Given the description of an element on the screen output the (x, y) to click on. 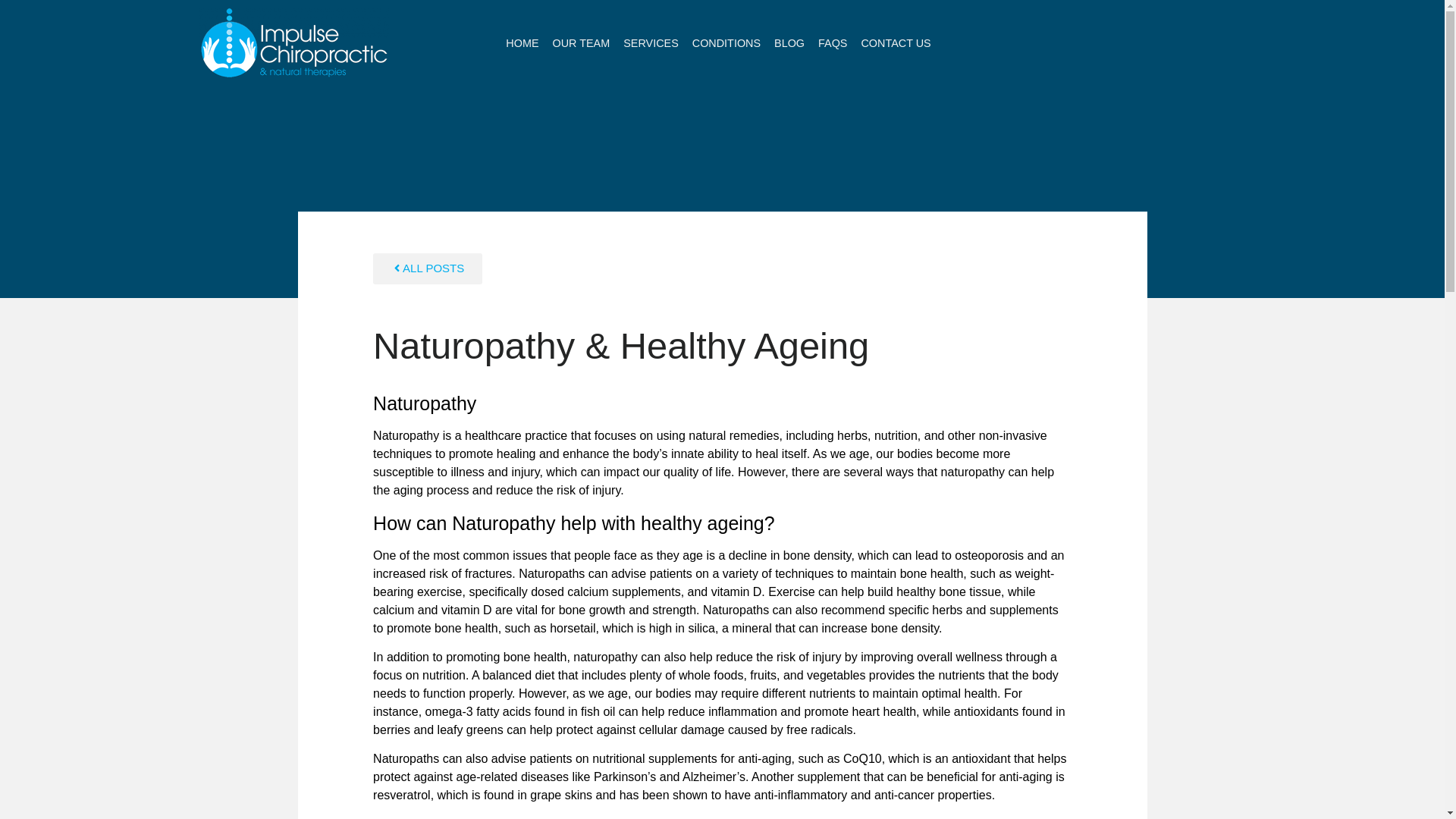
CONDITIONS (726, 42)
OUR TEAM (581, 42)
HOME (521, 42)
SERVICES (650, 42)
CONTACT US (895, 42)
FAQS (832, 42)
BLOG (789, 42)
